Given the description of an element on the screen output the (x, y) to click on. 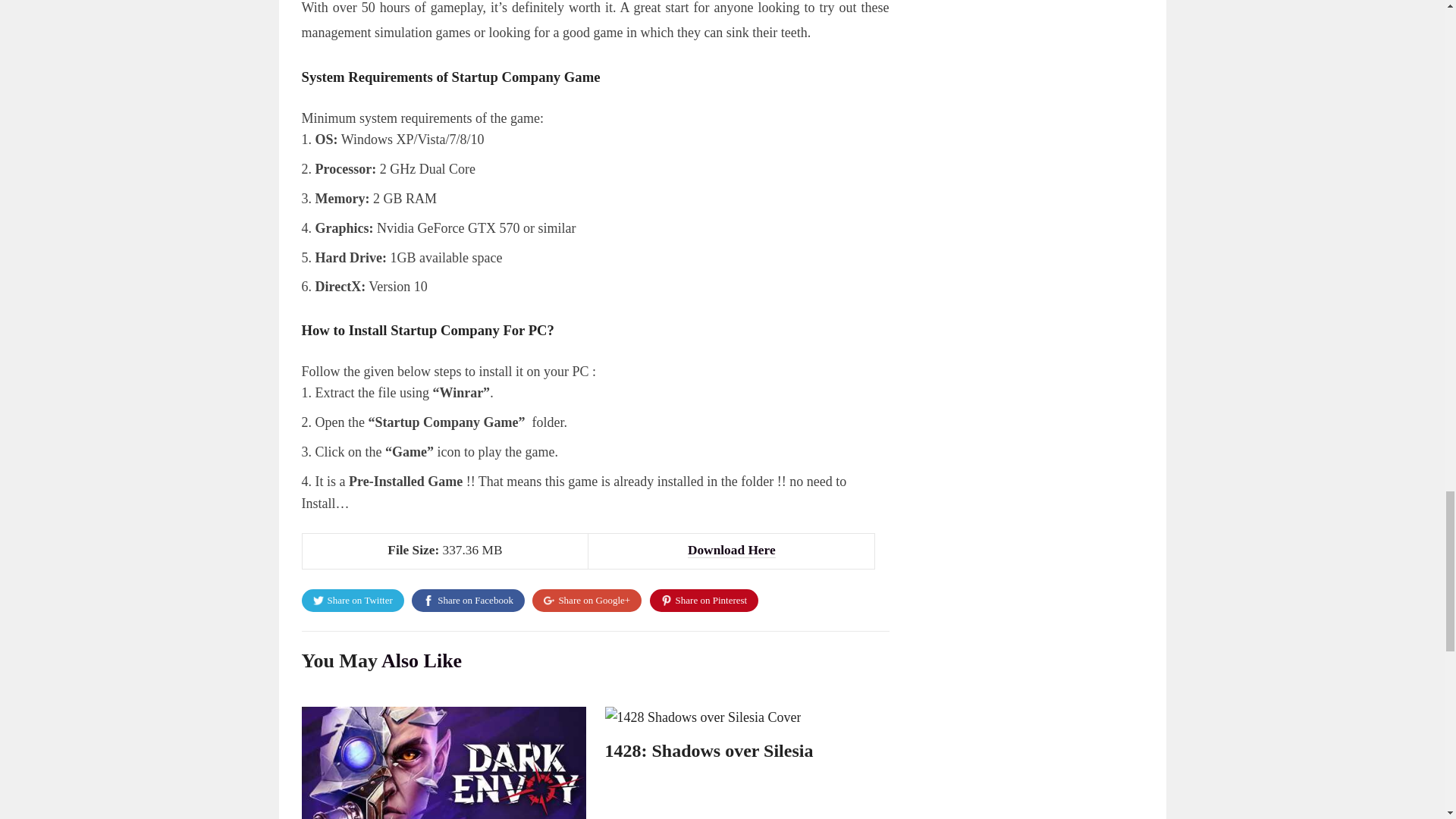
Share on Twitter (352, 599)
1428: Shadows over Silesia (709, 750)
Download Here (731, 549)
Share on Pinterest (703, 599)
Share on Facebook (468, 599)
